Given the description of an element on the screen output the (x, y) to click on. 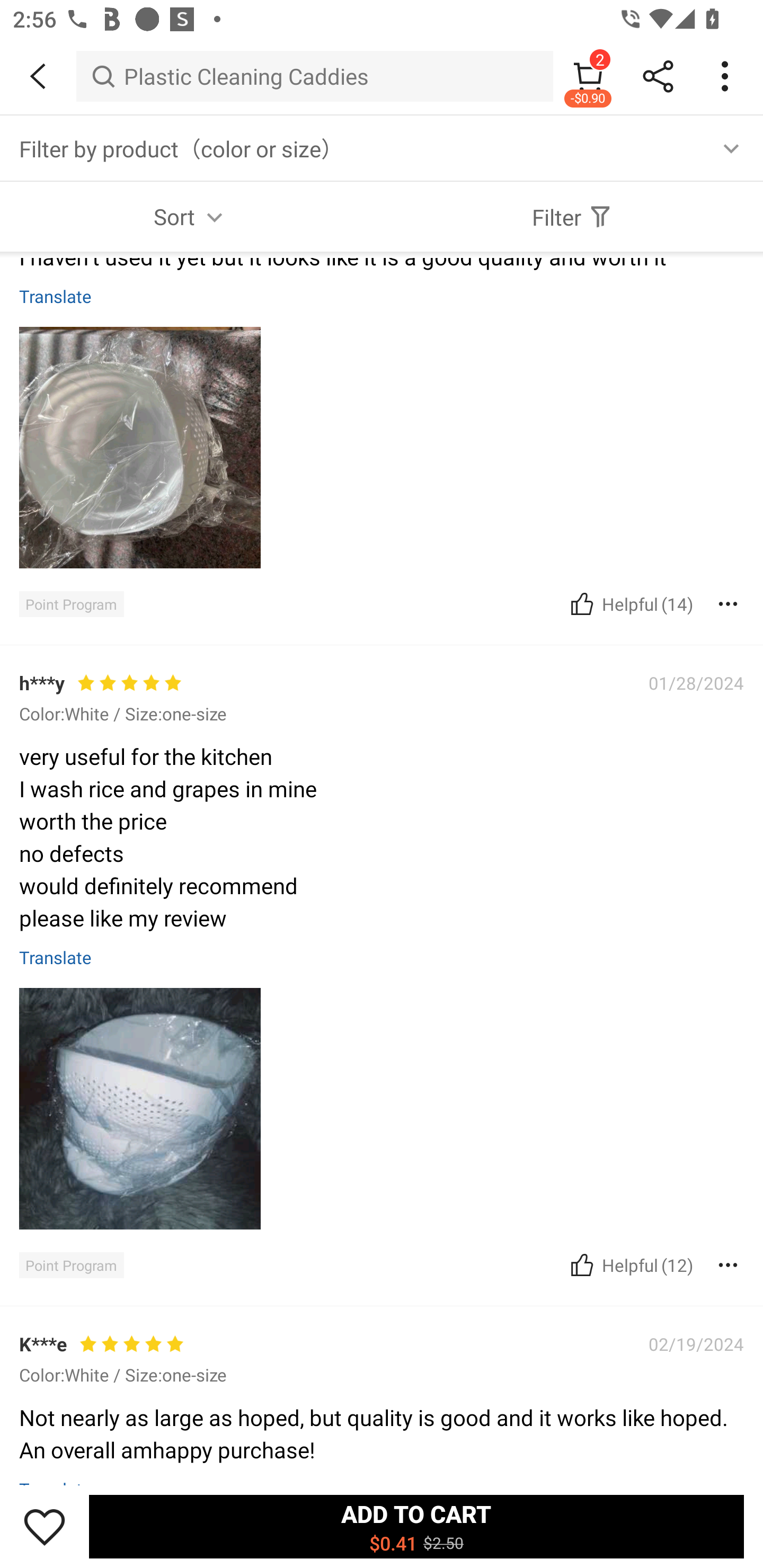
BACK (38, 75)
2 -$0.90 (588, 75)
Plastic Cleaning Caddies (314, 75)
Filter by product（color or size） (381, 148)
Sort (190, 215)
Filter (572, 215)
Translate (55, 295)
Cancel Helpful Was this article helpful? (14) (629, 603)
Point Program (71, 604)
Translate (55, 957)
Cancel Helpful Was this article helpful? (12) (629, 1265)
Point Program (71, 1264)
ADD TO CART $0.41 $2.50 (416, 1526)
Save (44, 1526)
